Given the description of an element on the screen output the (x, y) to click on. 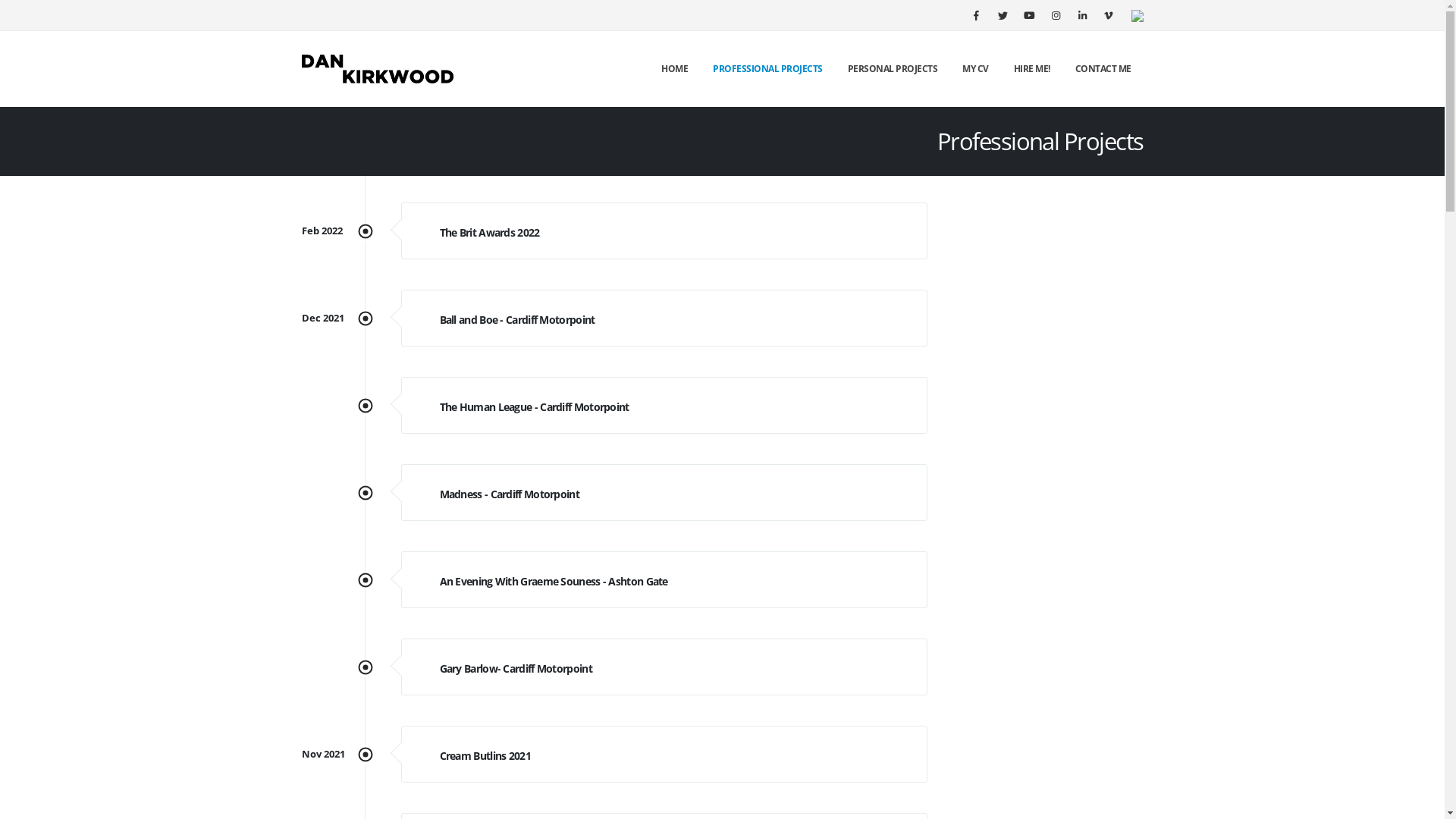
MY CV Element type: text (975, 68)
PROFESSIONAL PROJECTS Element type: text (767, 68)
CONTACT ME Element type: text (1103, 68)
Twitter Element type: hover (1001, 14)
Vimeo Element type: hover (1107, 14)
Youtube Element type: hover (1028, 14)
Facebook Element type: hover (975, 14)
Instagram Element type: hover (1054, 14)
HOME Element type: text (674, 68)
PERSONAL PROJECTS Element type: text (892, 68)
HIRE ME! Element type: text (1031, 68)
LinkedIn Element type: hover (1081, 14)
